Given the description of an element on the screen output the (x, y) to click on. 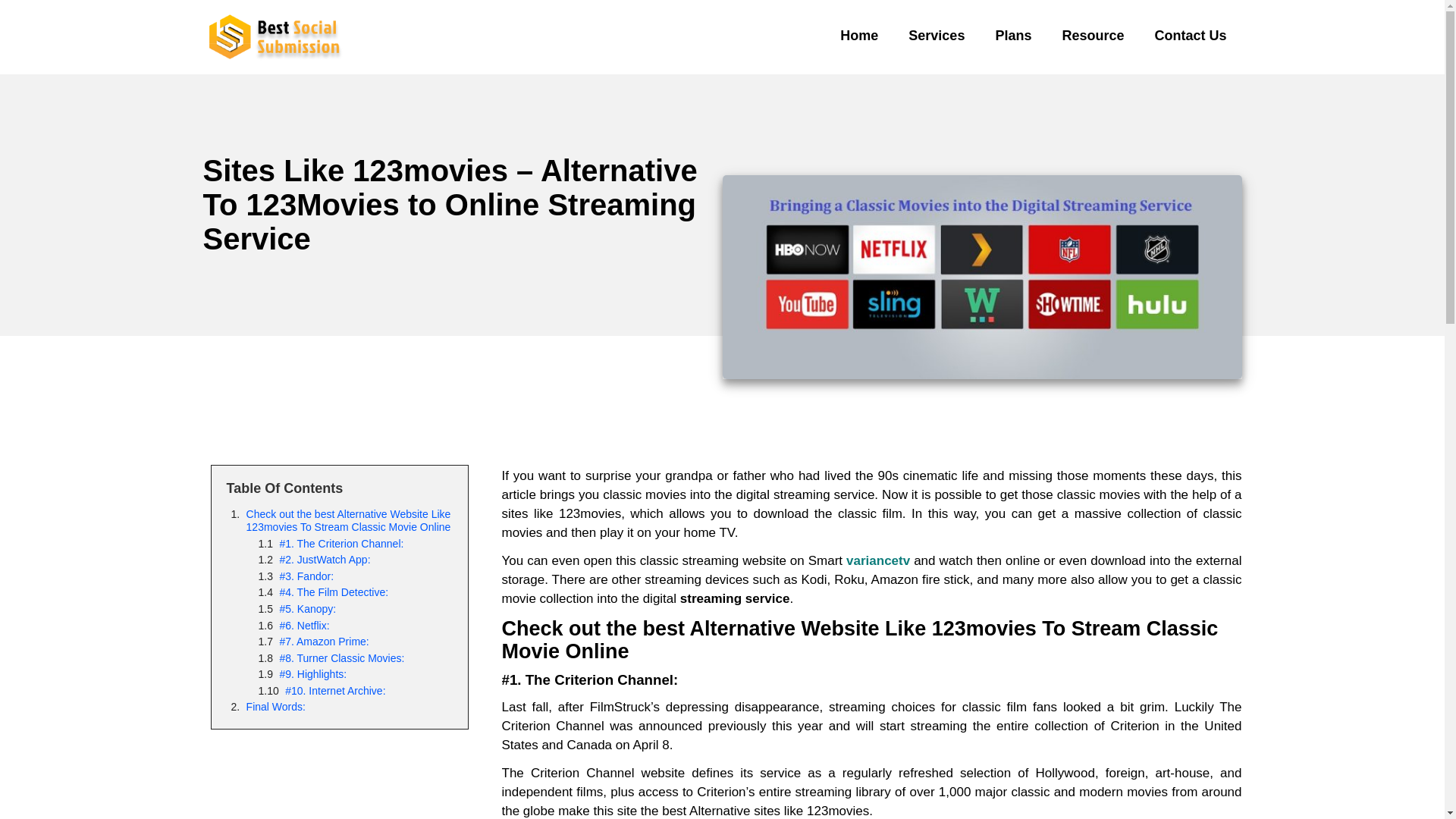
Final Words: (275, 706)
Contact Us (1189, 35)
Resource (1092, 35)
Services (936, 35)
Plans (1012, 35)
variancetv (877, 560)
Home (859, 35)
